Given the description of an element on the screen output the (x, y) to click on. 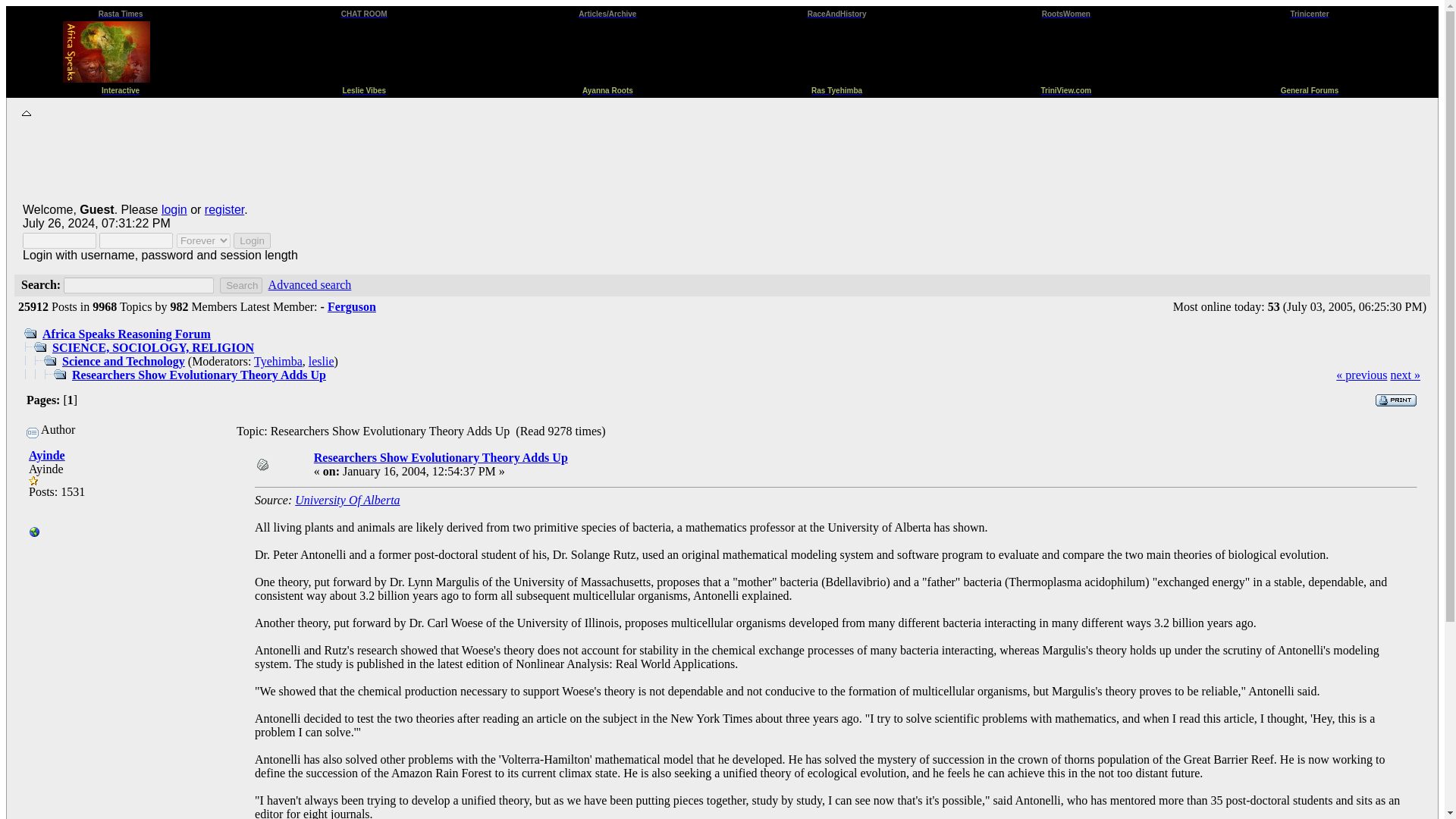
Ayinde (47, 454)
Tyehimba (277, 360)
Board Moderator (321, 360)
Login (251, 240)
Ferguson (351, 306)
Login (251, 240)
Rasta Times (120, 11)
Advanced search (309, 284)
General Forums (1310, 88)
AfricaSpeaks (34, 533)
Ras Tyehimba (835, 88)
TriniView.com (1065, 88)
leslie (321, 360)
Africa Speaks Reasoning Forum (126, 333)
RootsWomen (1066, 11)
